Given the description of an element on the screen output the (x, y) to click on. 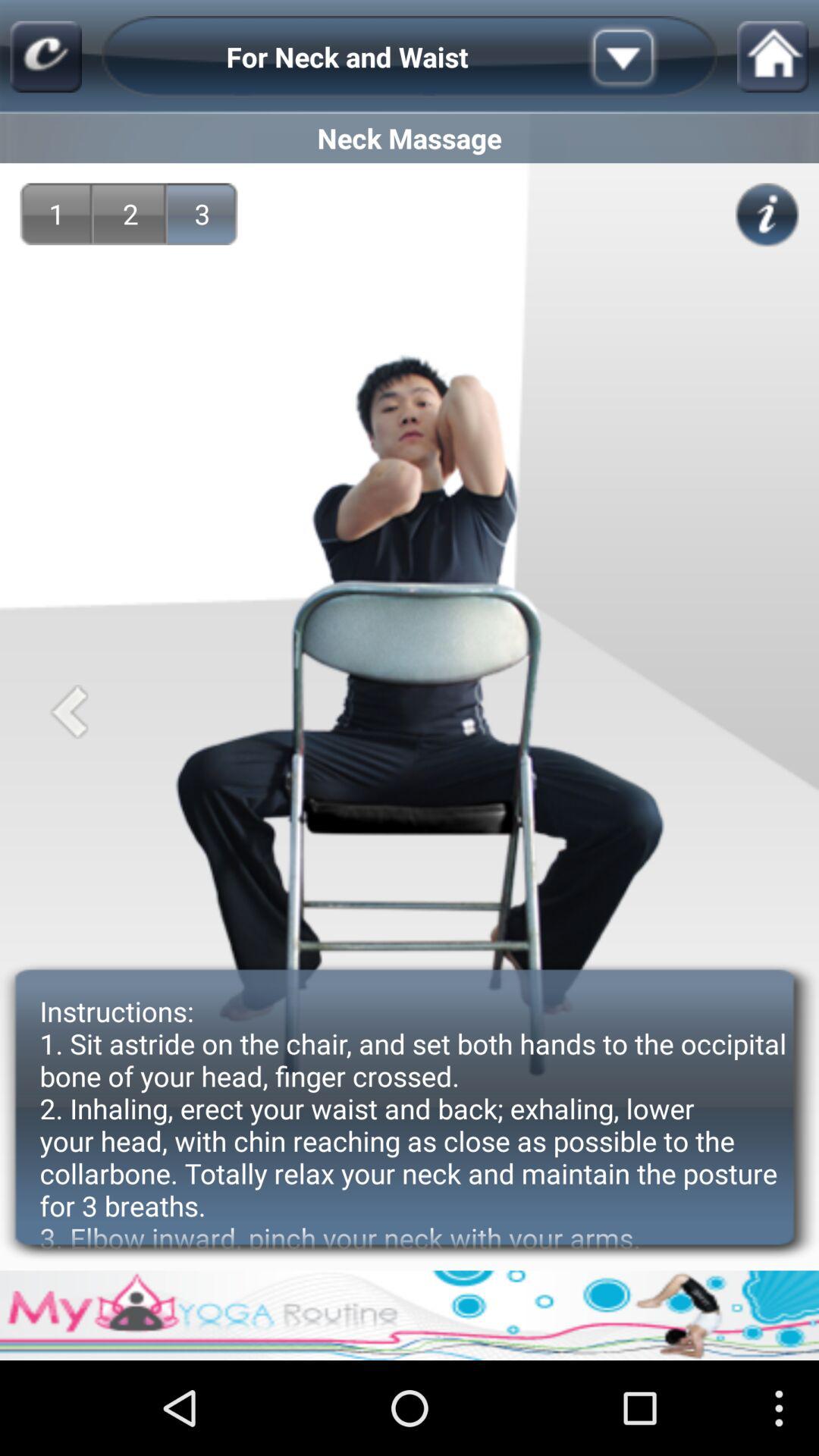
home (772, 56)
